Given the description of an element on the screen output the (x, y) to click on. 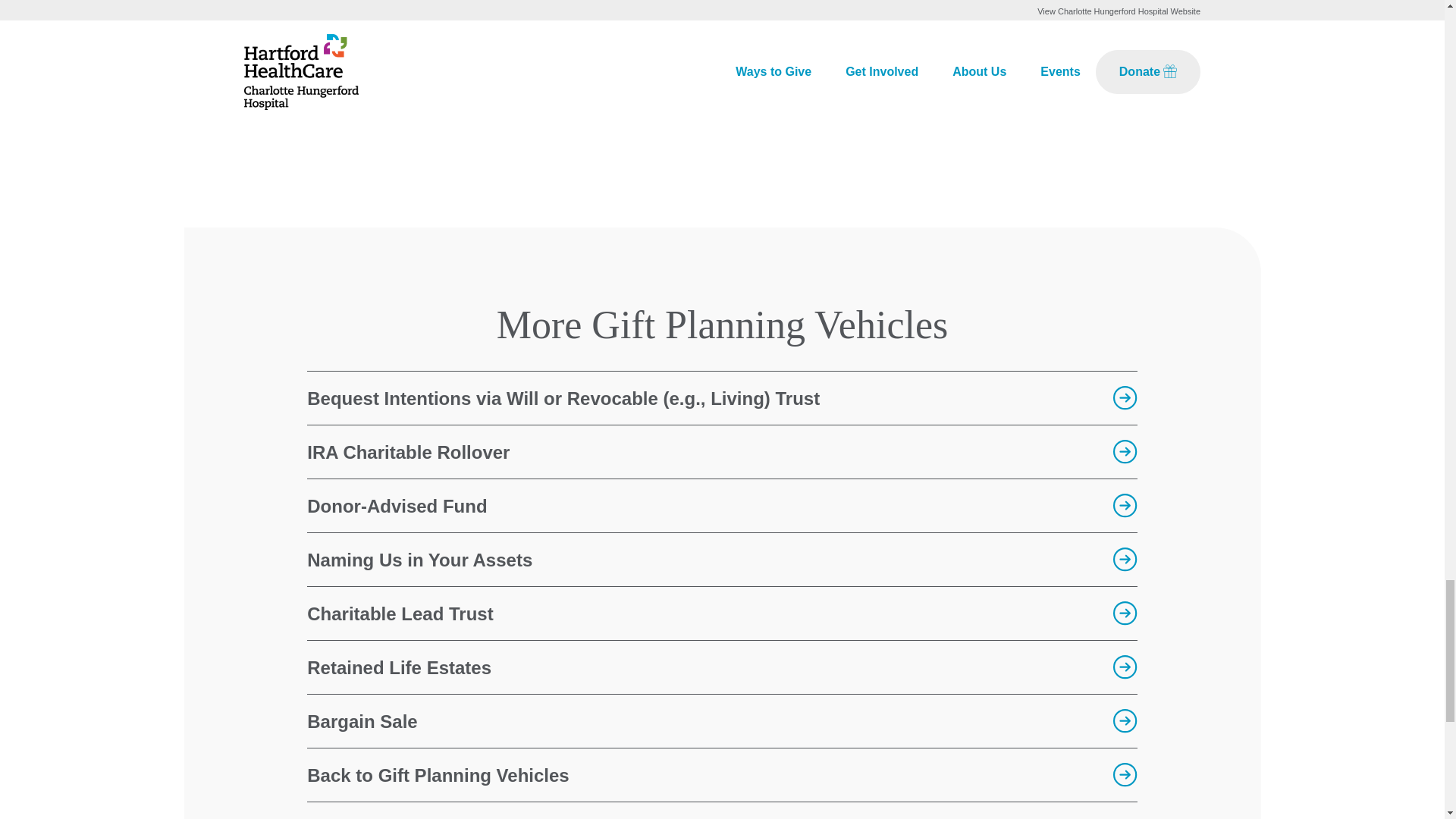
GET MORE INFO (626, 27)
Donor-Advised Fund (722, 505)
Back to Gift Planning Vehicles (722, 774)
Charitable Lead Trust (722, 613)
Bargain Sale (722, 720)
FIND OUT MORE (945, 27)
Retained Life Estates (722, 666)
Naming Us in Your Assets (722, 559)
IRA Charitable Rollover (722, 451)
